Given the description of an element on the screen output the (x, y) to click on. 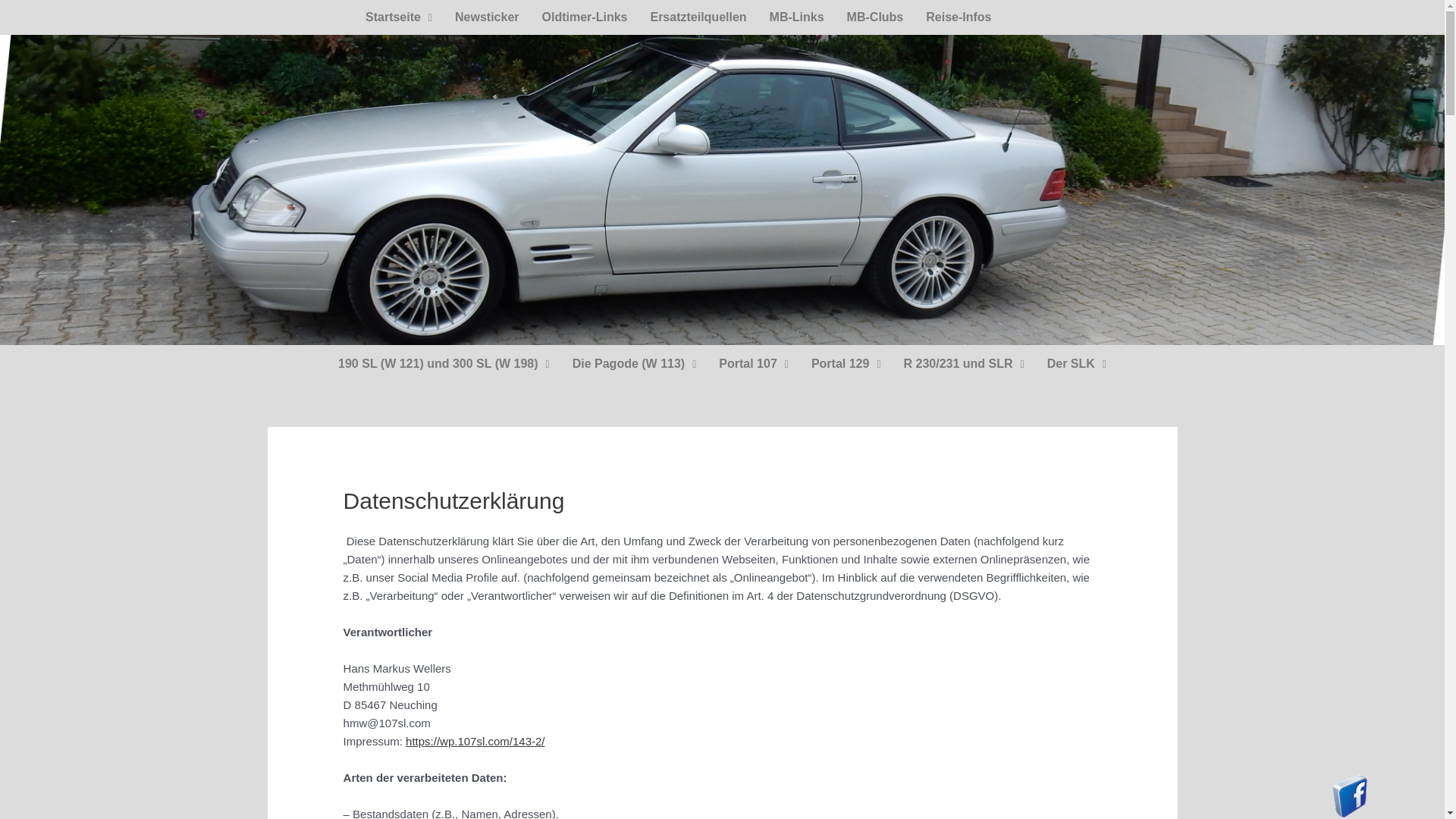
R 230/231 und SLR Element type: text (963, 363)
MB-Clubs Element type: text (875, 17)
https://wp.107sl.com/143-2/ Element type: text (474, 740)
190 SL (W 121) und 300 SL (W 198) Element type: text (443, 363)
Ersatzteilquellen Element type: text (697, 17)
Visit Us On Facebook Element type: hover (1350, 794)
Startseite Element type: text (398, 17)
Die Pagode (W 113) Element type: text (634, 363)
Portal 107 Element type: text (753, 363)
Portal 129 Element type: text (846, 363)
Reise-Infos Element type: text (958, 17)
MB-Links Element type: text (796, 17)
Oldtimer-Links Element type: text (584, 17)
Der SLK Element type: text (1076, 363)
Newsticker Element type: text (486, 17)
